Given the description of an element on the screen output the (x, y) to click on. 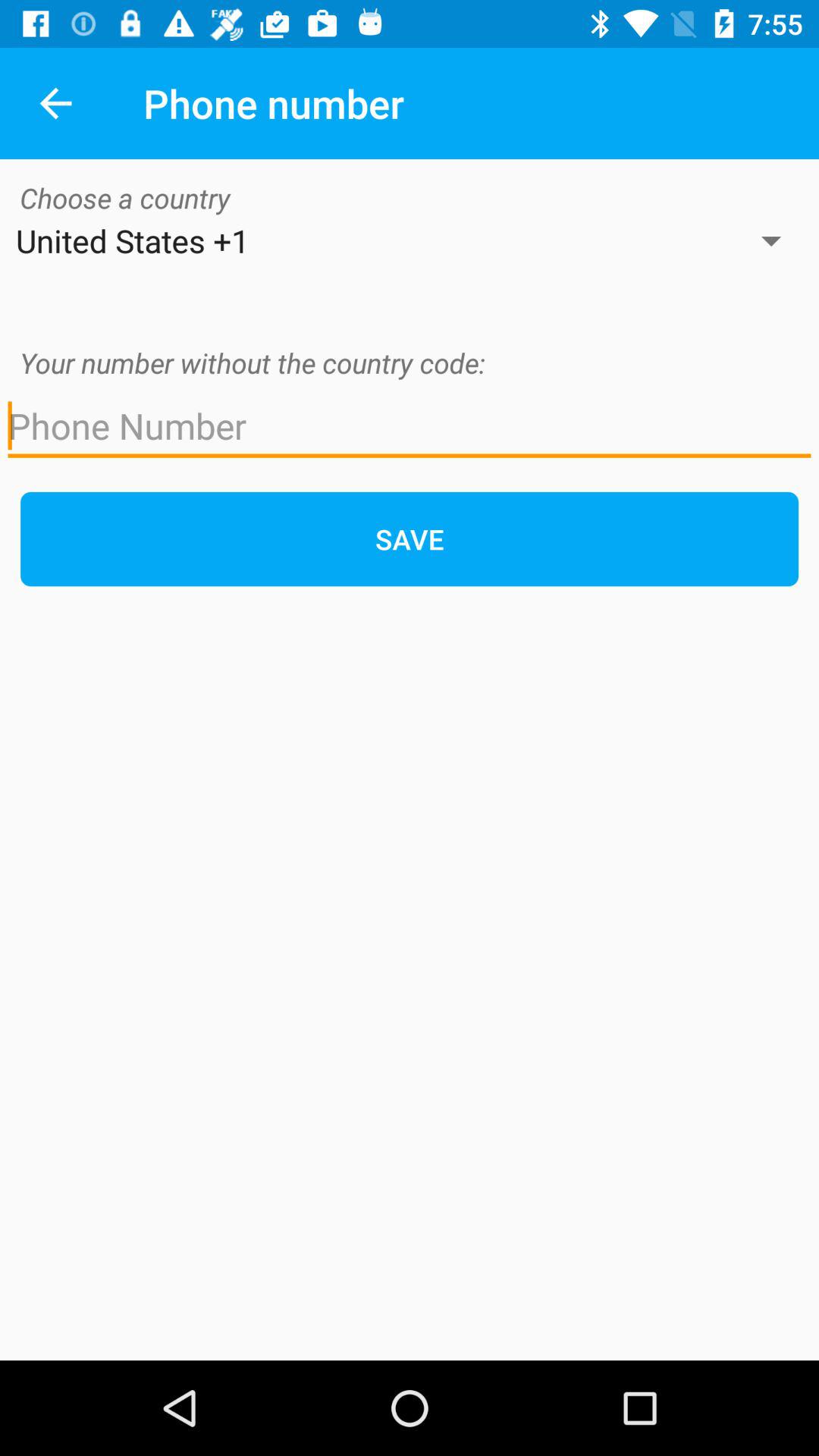
typing option (409, 426)
